Given the description of an element on the screen output the (x, y) to click on. 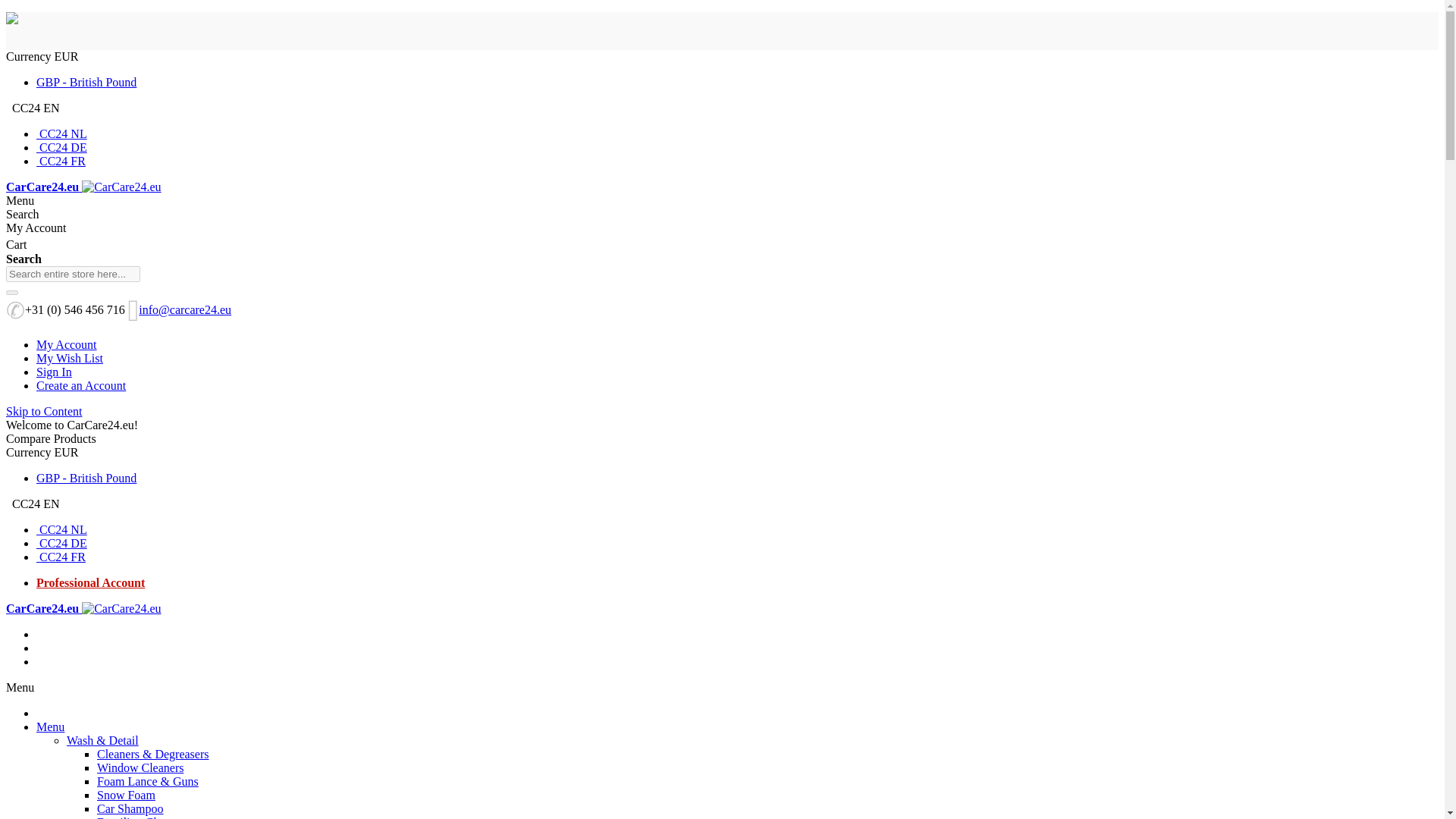
GBP - British Pound (86, 477)
Skip to Content (43, 410)
Compare Products (50, 438)
GBP - British Pound (86, 82)
 CC24 FR (60, 556)
Compare Products (50, 438)
My Account (66, 344)
Window Cleaners (140, 767)
Snow Foam (126, 794)
CarCare24.eu (83, 608)
My Wish List (69, 358)
 CC24 DE (61, 543)
CarCare24.eu (83, 608)
Car Shampoo (130, 808)
Sign In (53, 371)
